Given the description of an element on the screen output the (x, y) to click on. 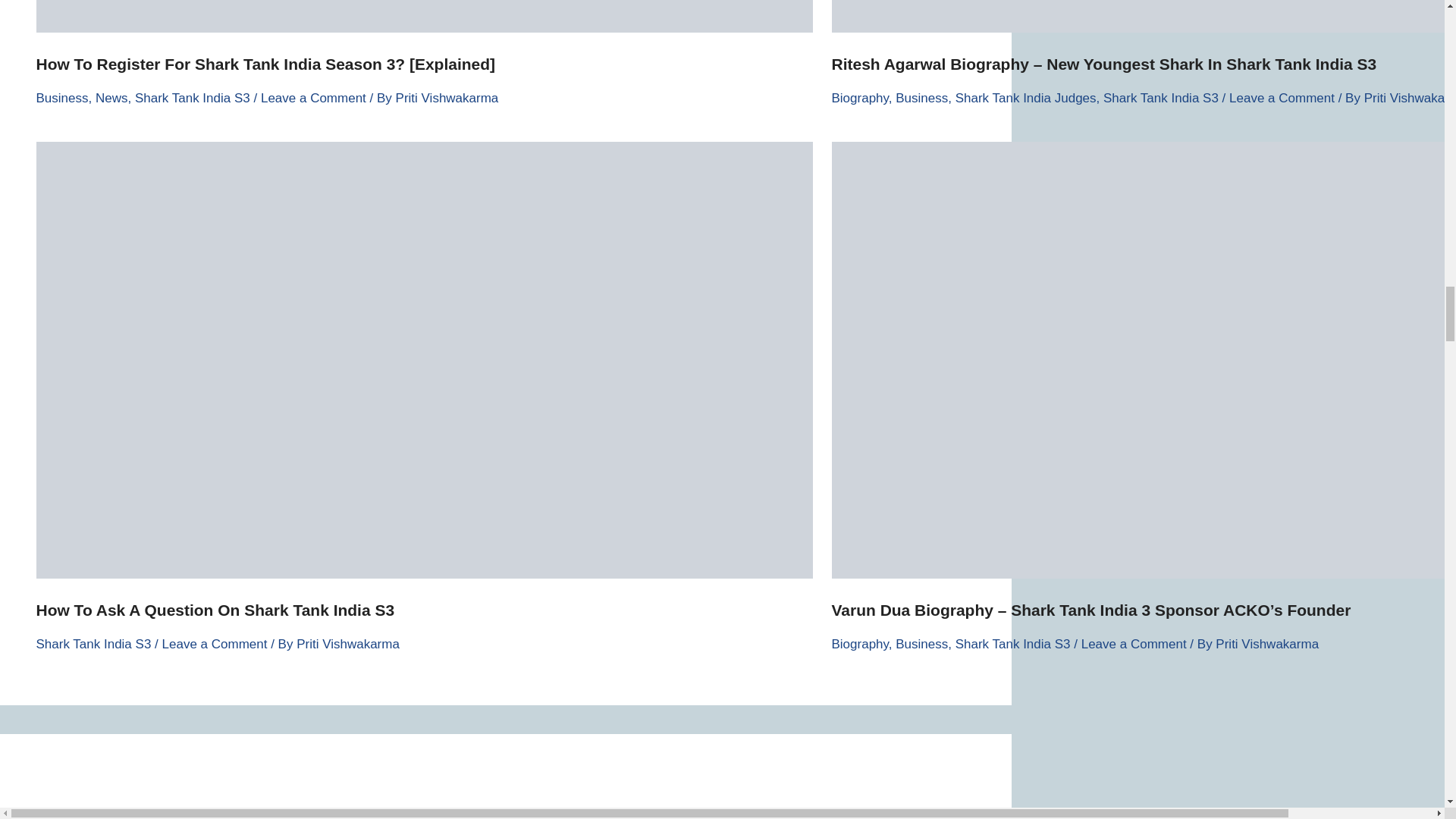
News (112, 97)
View all posts by Priti Vishwakarma (347, 644)
View all posts by Priti Vishwakarma (447, 97)
Priti Vishwakarma (447, 97)
Business (62, 97)
Shark Tank India Judges (1025, 97)
How To Ask A Question On Shark Tank India S3 (215, 610)
Leave a Comment (1281, 97)
Shark Tank India S3 (1160, 97)
